Given the description of an element on the screen output the (x, y) to click on. 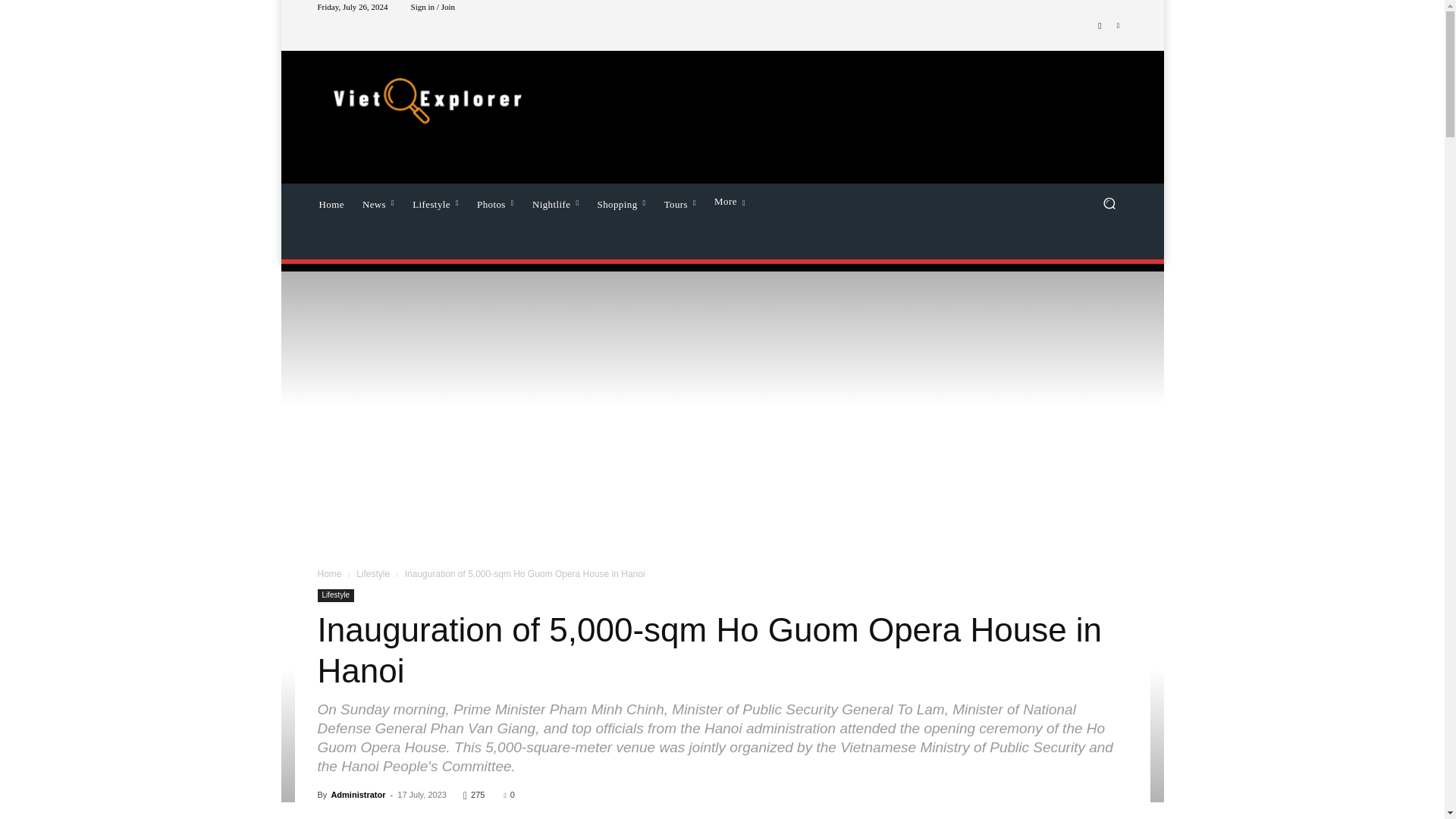
Home (330, 202)
Lifestyle (435, 202)
News (378, 202)
Facebook (1099, 25)
Twitter (1117, 25)
